Given the description of an element on the screen output the (x, y) to click on. 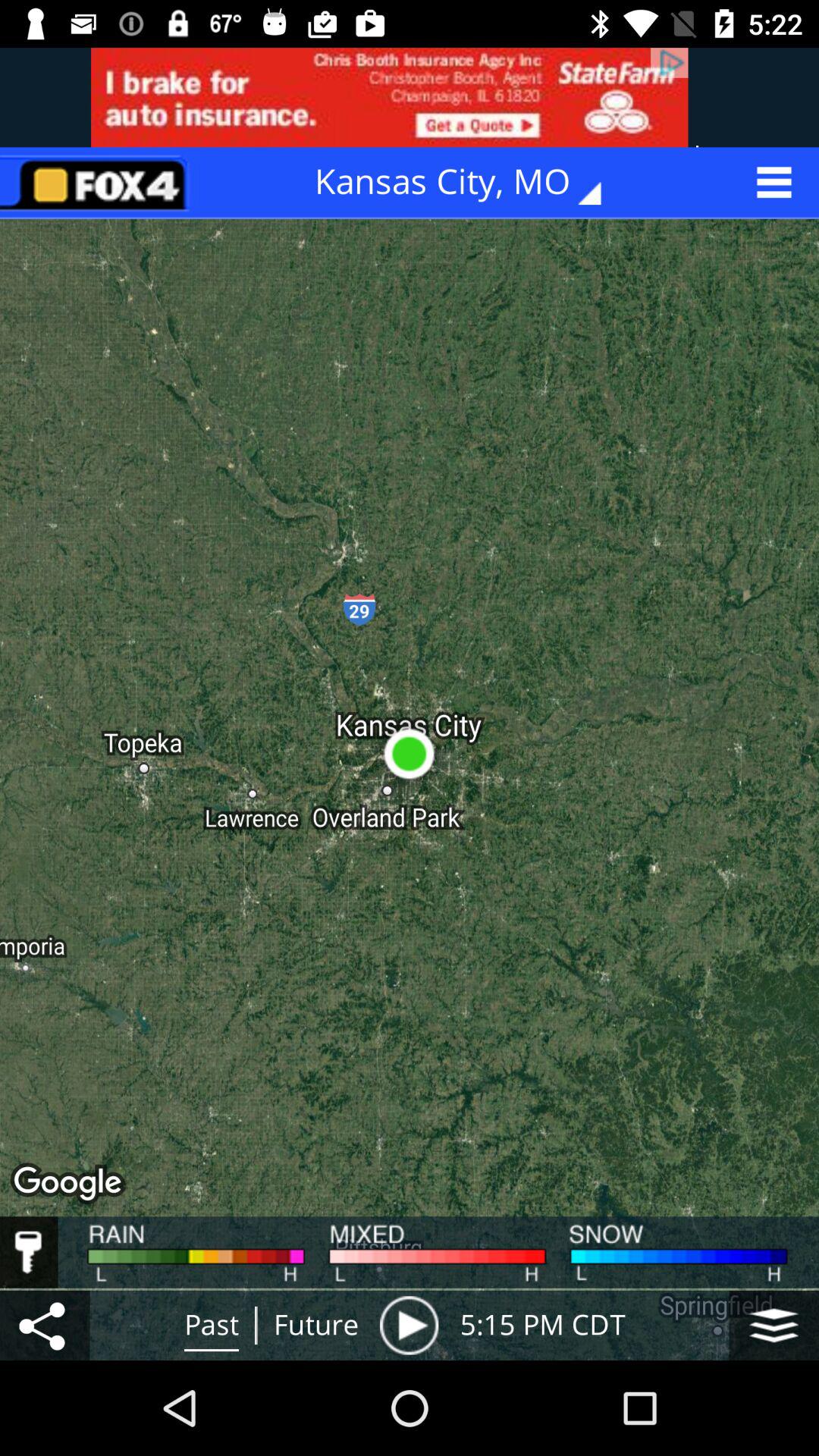
select advertisement (409, 97)
